Given the description of an element on the screen output the (x, y) to click on. 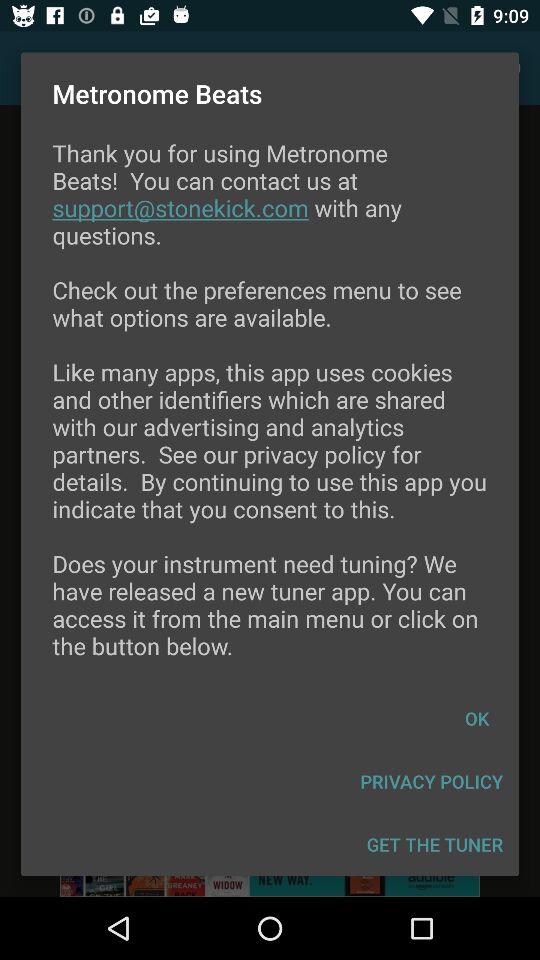
click icon below thank you for icon (477, 718)
